Given the description of an element on the screen output the (x, y) to click on. 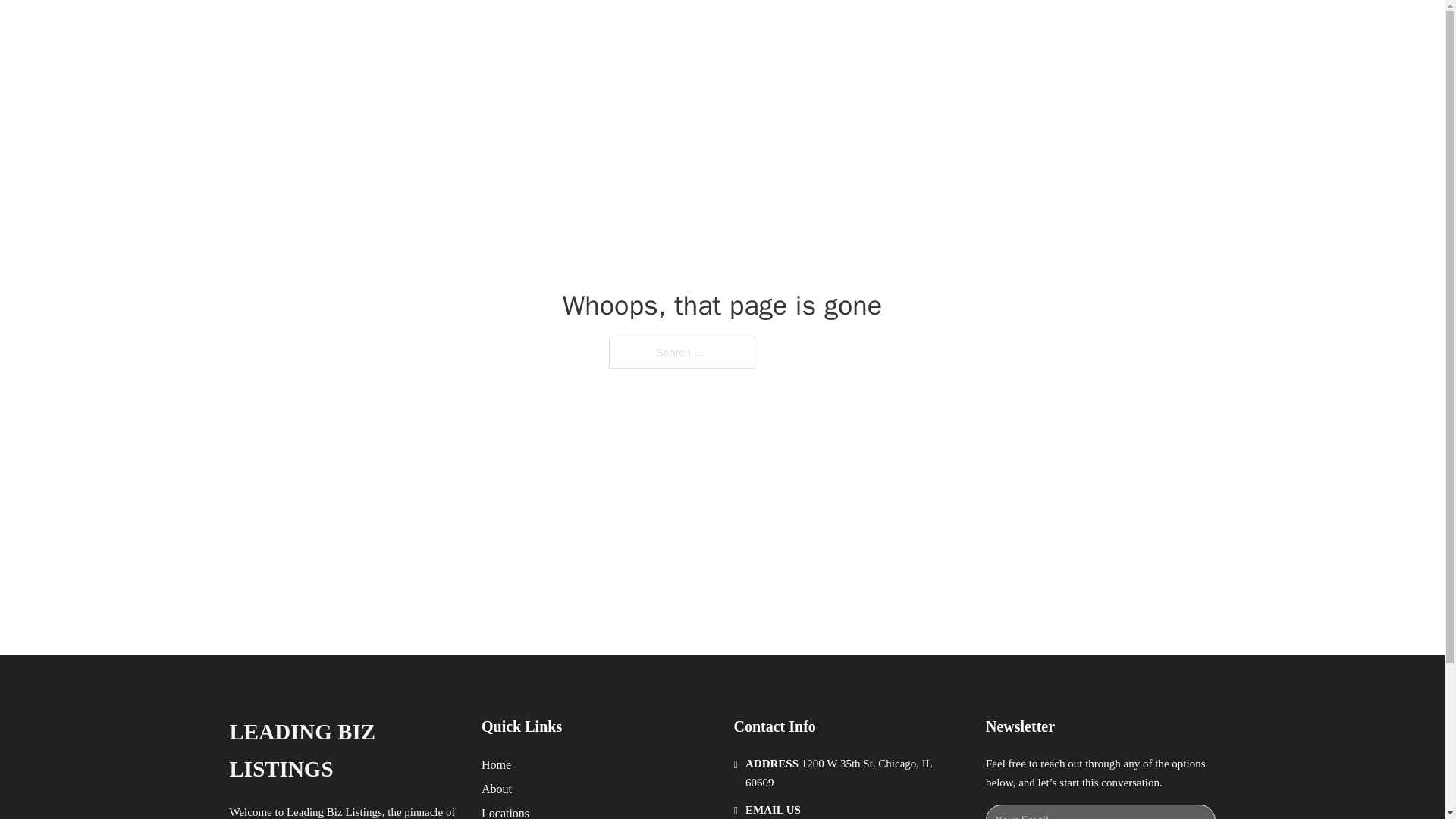
About (496, 788)
LOCATIONS (990, 29)
Home (496, 764)
HOME (919, 29)
Locations (505, 811)
LEADING BIZ LISTINGS (422, 28)
LEADING BIZ LISTINGS (343, 750)
